Given the description of an element on the screen output the (x, y) to click on. 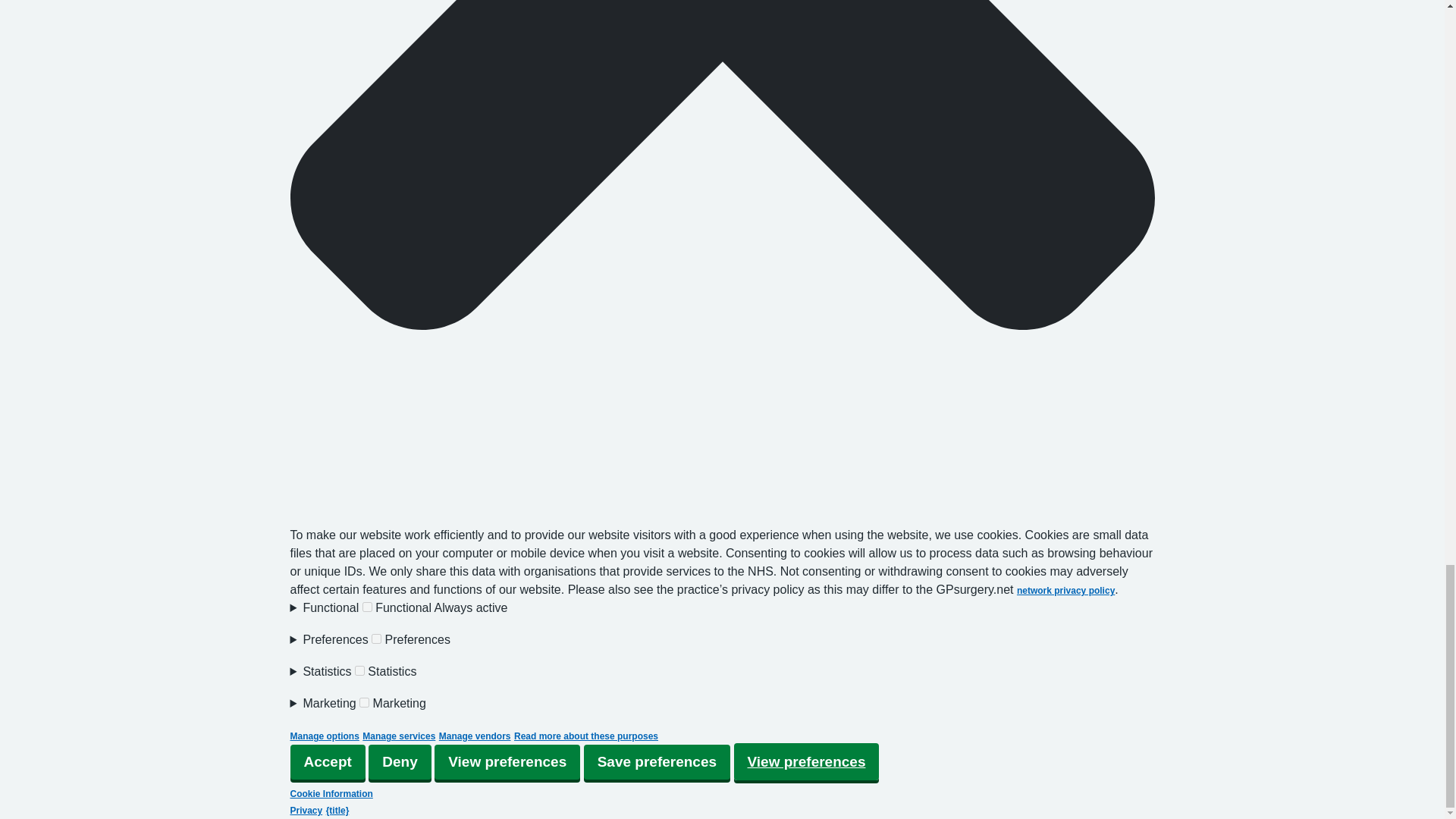
Manage options (323, 736)
1 (364, 702)
Manage vendors (475, 736)
Read more about these purposes (585, 736)
1 (360, 670)
1 (367, 606)
network privacy policy (1065, 590)
Manage services (398, 736)
1 (376, 638)
